Given the description of an element on the screen output the (x, y) to click on. 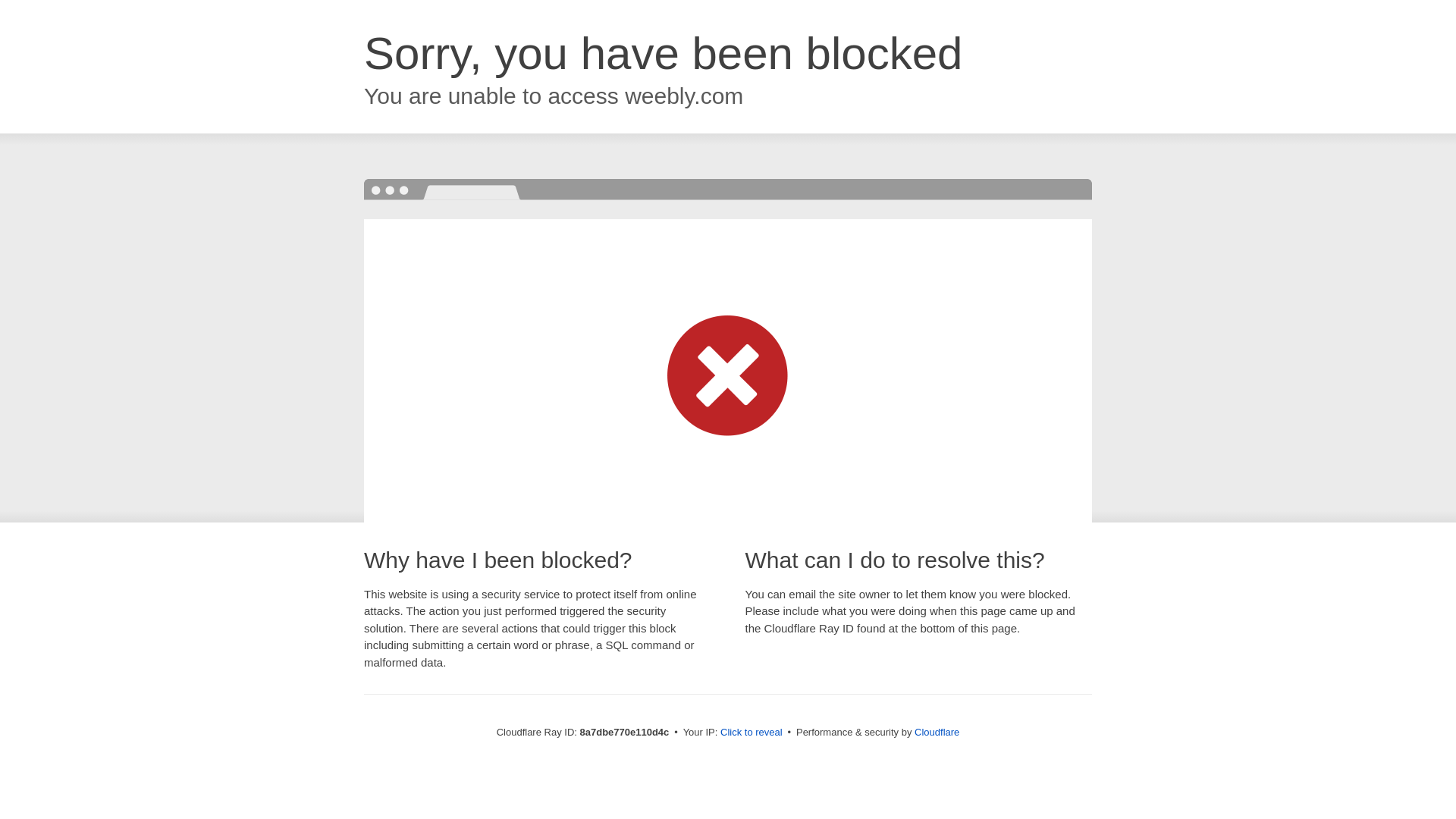
Click to reveal (751, 732)
Cloudflare (936, 731)
